Given the description of an element on the screen output the (x, y) to click on. 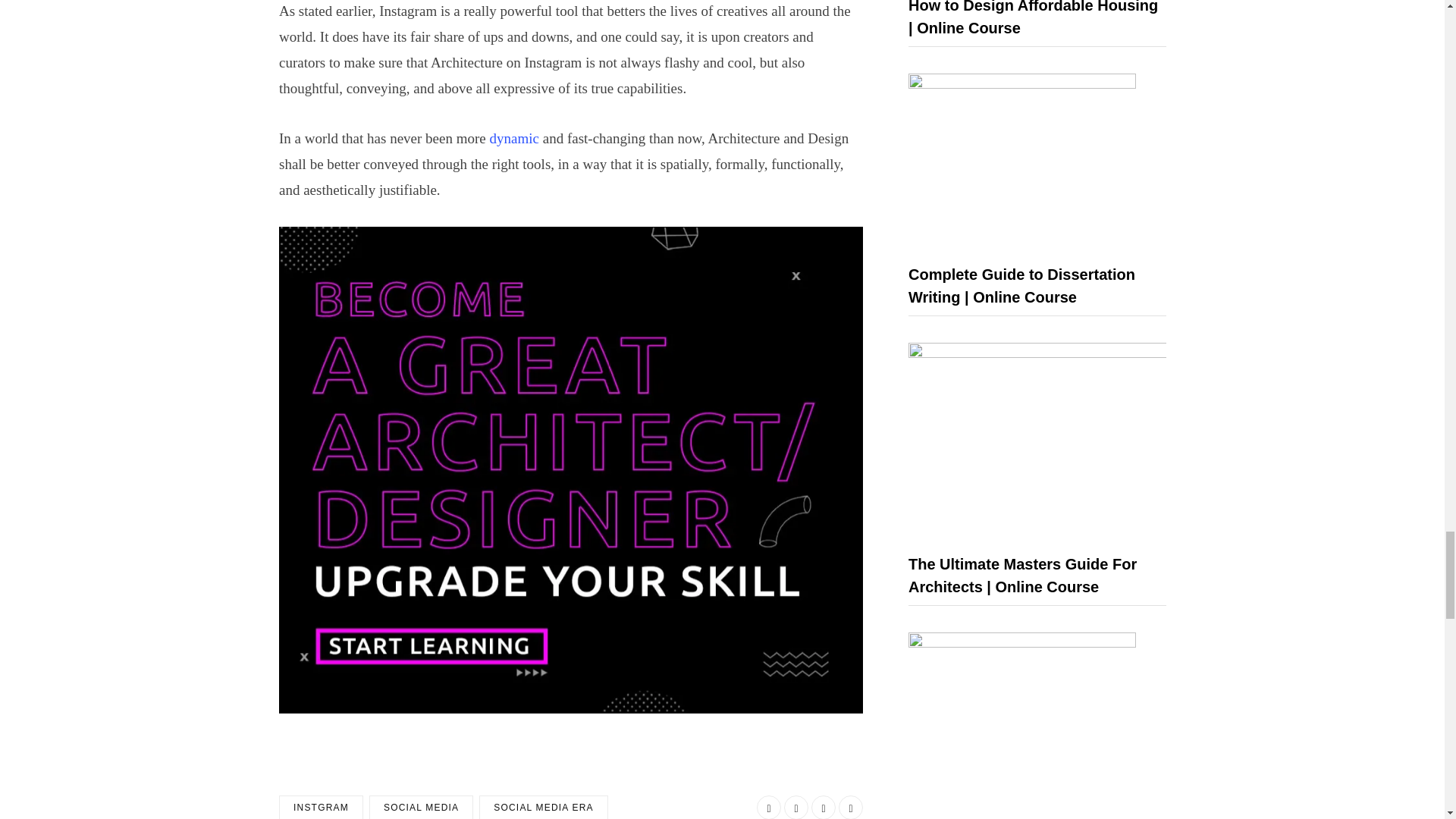
Pinterest (850, 807)
Share on Twitter (796, 807)
LinkedIn (822, 807)
Share on Facebook (768, 807)
